Given the description of an element on the screen output the (x, y) to click on. 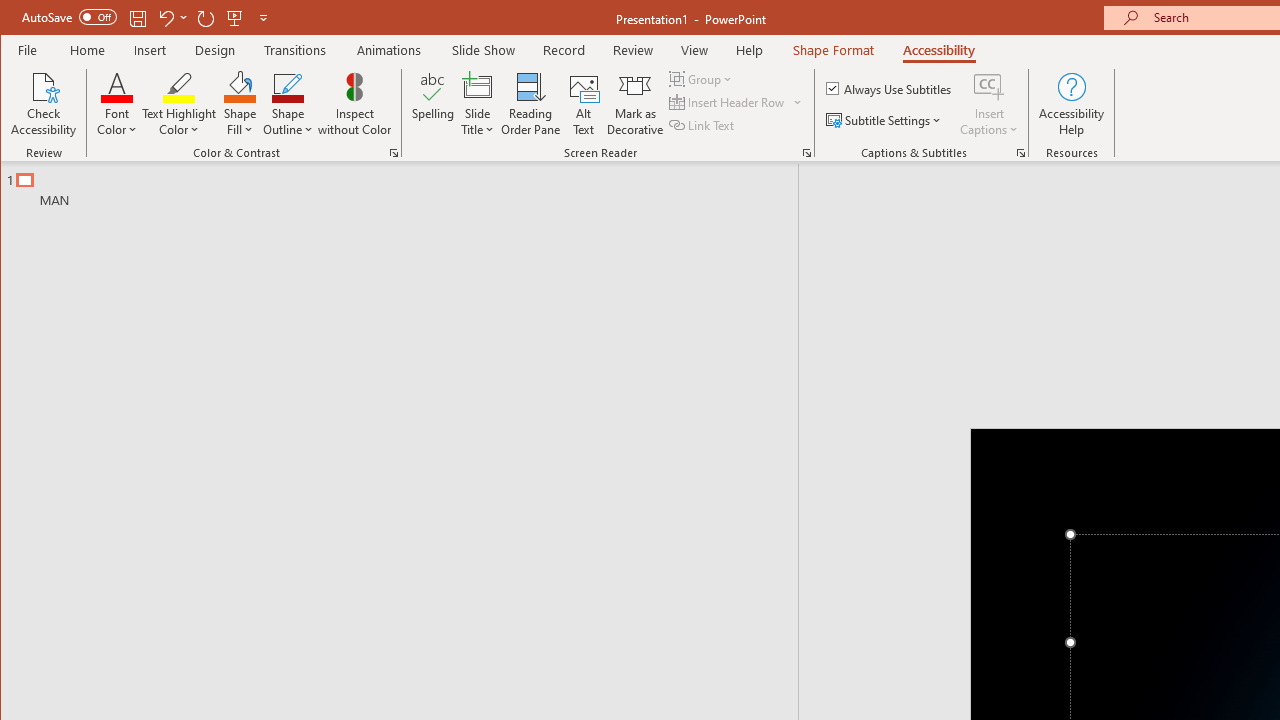
Text Highlight Color No Color (178, 86)
Slide Title (477, 104)
Link Text (703, 124)
Group (701, 78)
Shape Outline Blue, Accent 1 (288, 86)
